Given the description of an element on the screen output the (x, y) to click on. 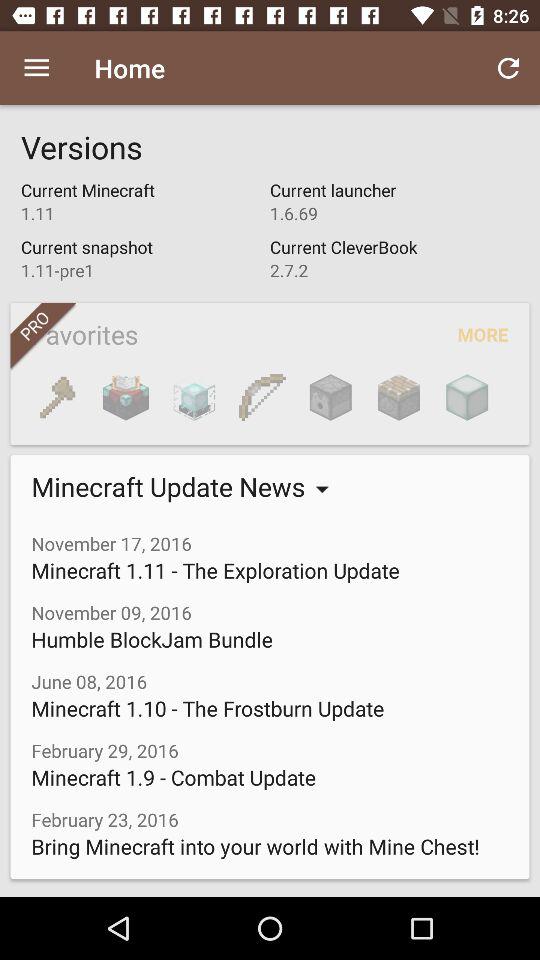
press the item below the favorites icon (398, 397)
